Given the description of an element on the screen output the (x, y) to click on. 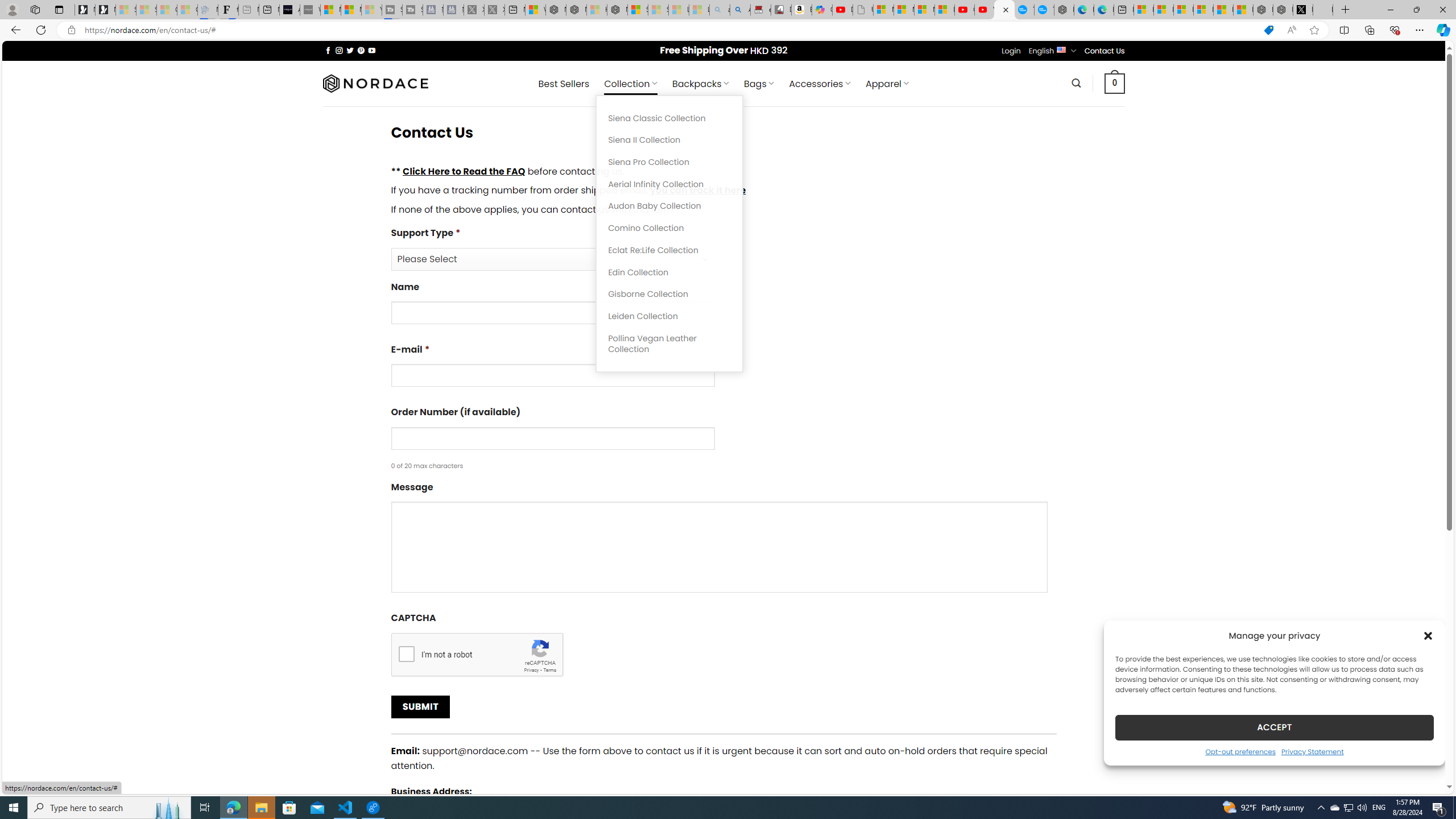
Opt-out preferences (1240, 750)
Copilot (821, 9)
Contact Us (1104, 50)
Support Type* (552, 259)
  0   (1115, 83)
Gisborne Collection (669, 294)
Leiden Collection (669, 316)
you can track it here (697, 190)
Follow on Twitter (349, 49)
